Given the description of an element on the screen output the (x, y) to click on. 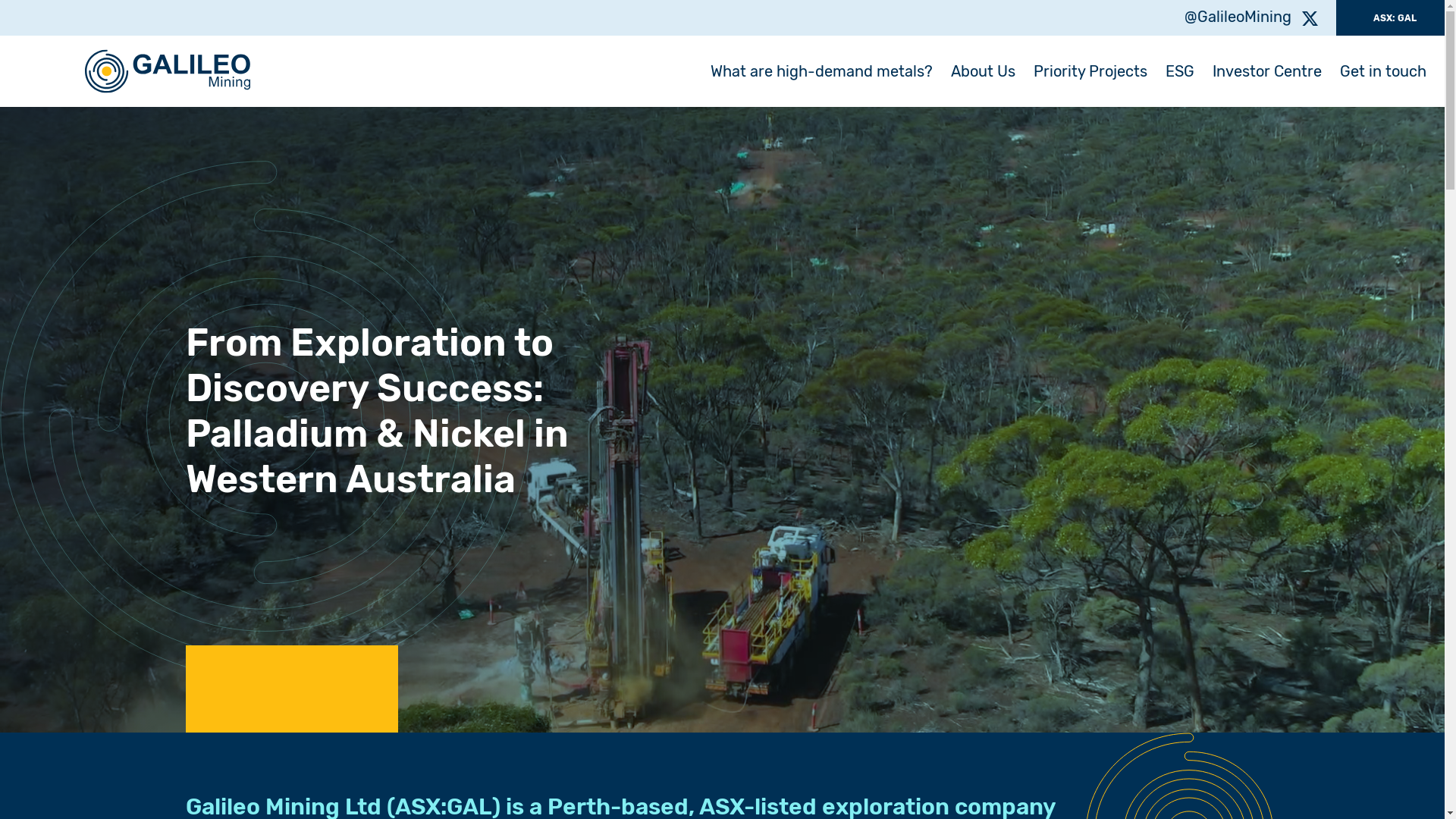
Priority Projects Element type: text (1090, 70)
ESG Element type: text (1179, 70)
About Us Element type: text (982, 70)
What are high-demand metals? Element type: text (821, 70)
Investor Centre Element type: text (1266, 70)
Get in touch Element type: text (1382, 70)
@GalileoMining Element type: text (1250, 17)
